Given the description of an element on the screen output the (x, y) to click on. 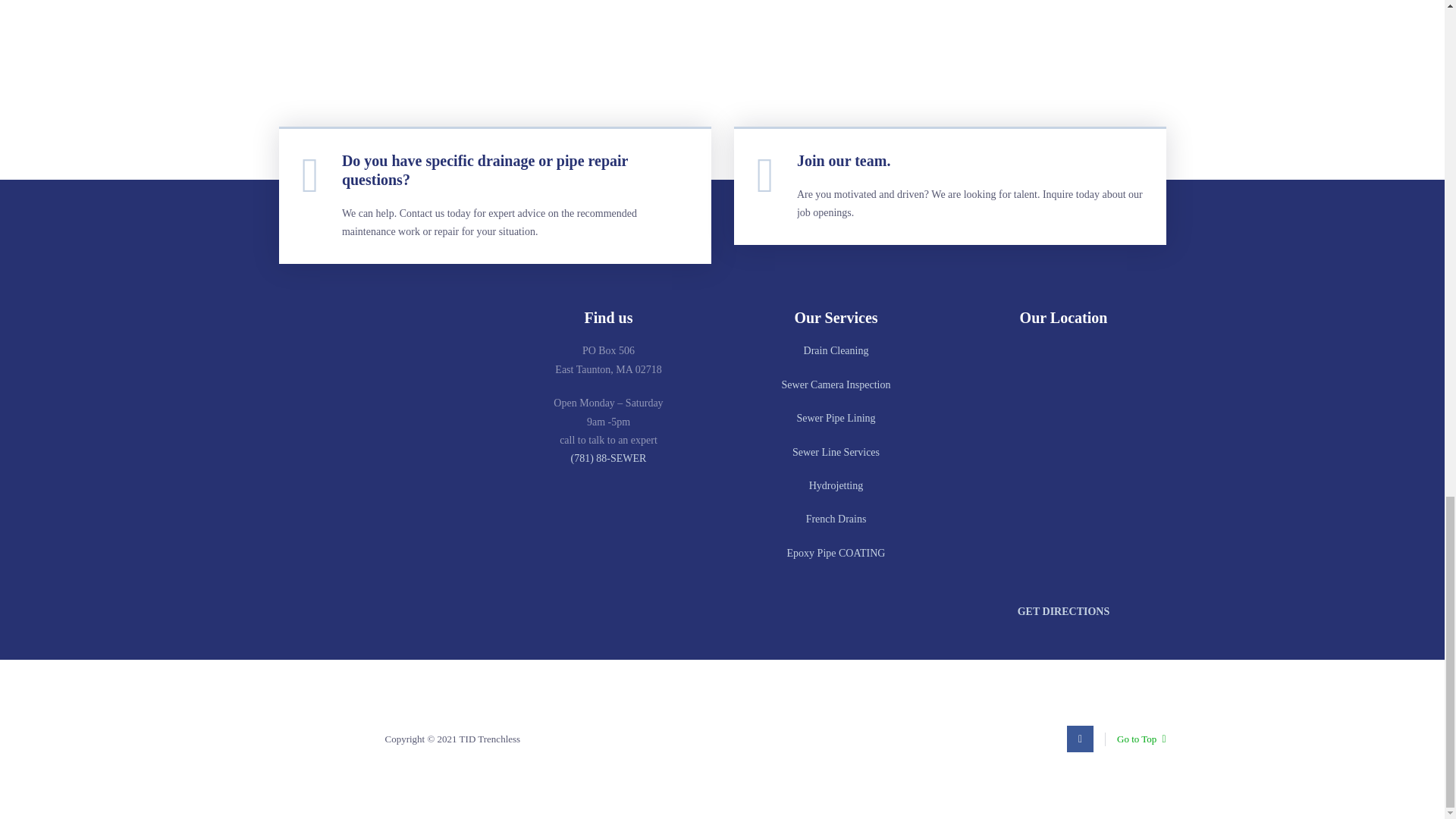
Drain Cleaning (836, 350)
Sewer Camera Inspection (836, 384)
Join our team. (843, 160)
Sewer Line Services (835, 451)
Epoxy Pipe COATING (836, 552)
Sewer Pipe Lining (835, 418)
French Drains (836, 518)
Hydrojetting (836, 485)
Do you have specific drainage or pipe repair questions? (484, 170)
